Given the description of an element on the screen output the (x, y) to click on. 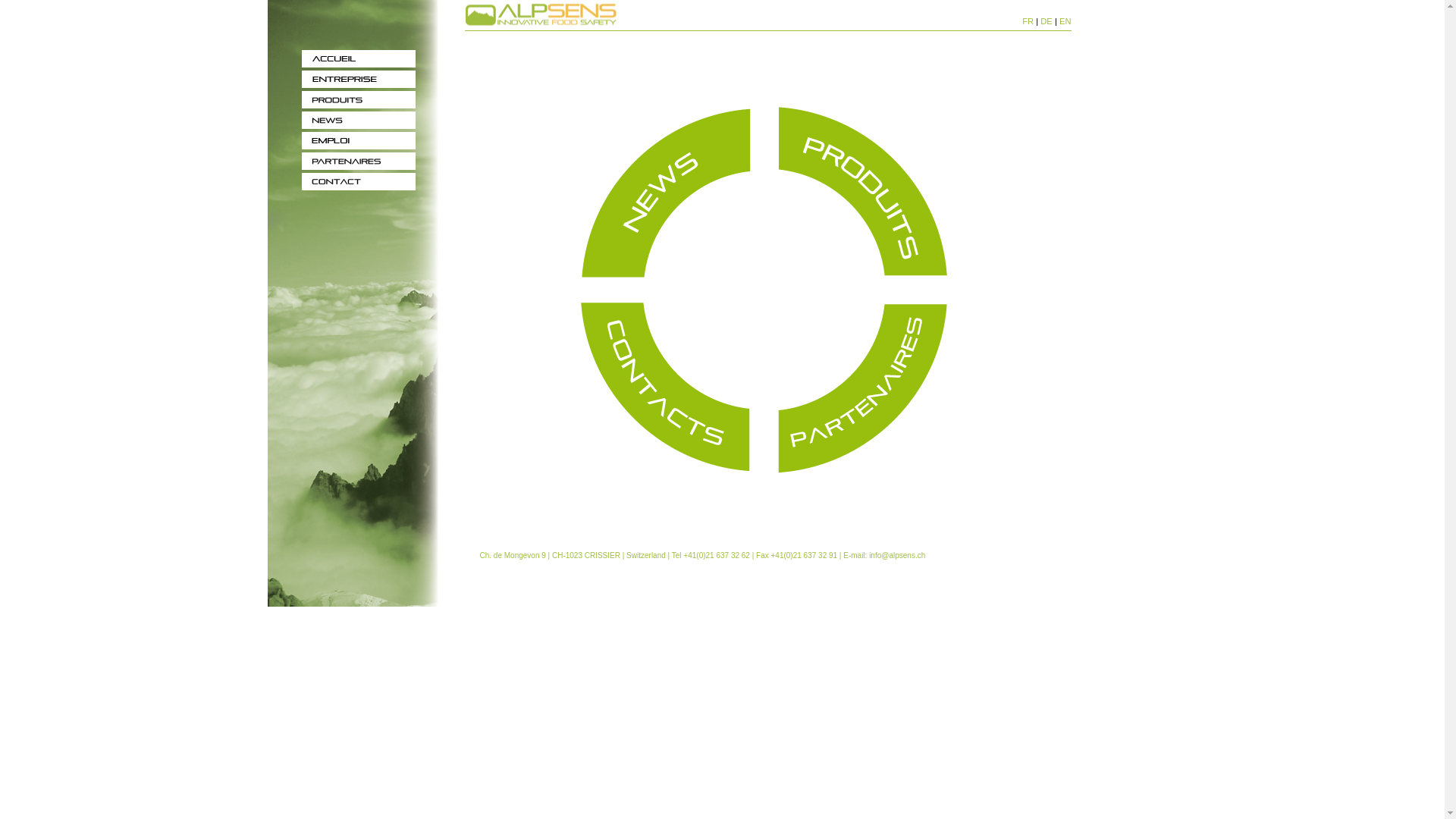
DE Element type: text (1046, 20)
info@alpsens.ch Element type: text (897, 555)
EN Element type: text (1065, 20)
FR Element type: text (1027, 20)
